Given the description of an element on the screen output the (x, y) to click on. 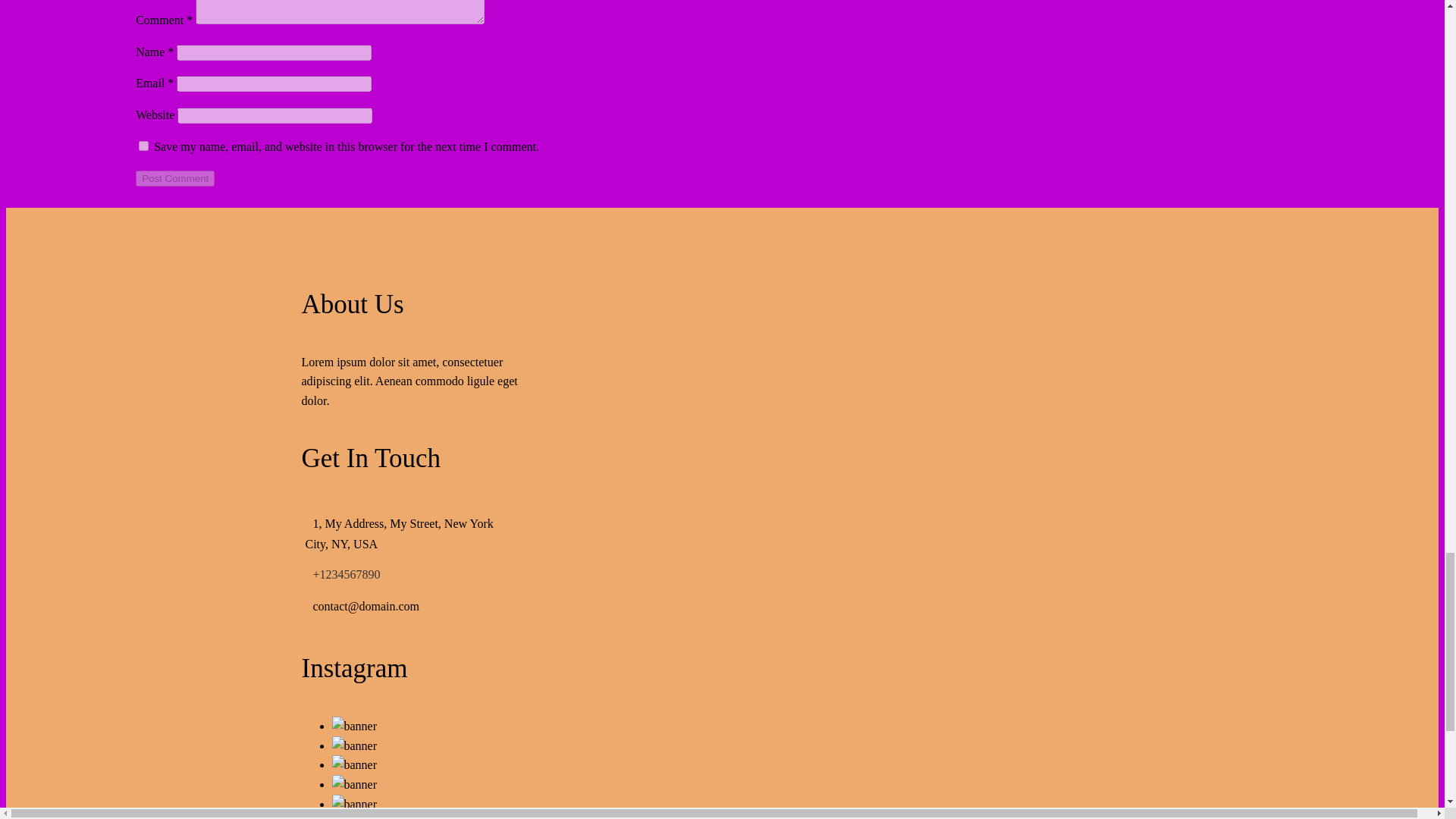
banner (354, 816)
banner (354, 726)
Post Comment (174, 178)
banner (354, 745)
banner (354, 784)
yes (143, 145)
banner (354, 804)
Post Comment (174, 178)
banner (354, 764)
